Given the description of an element on the screen output the (x, y) to click on. 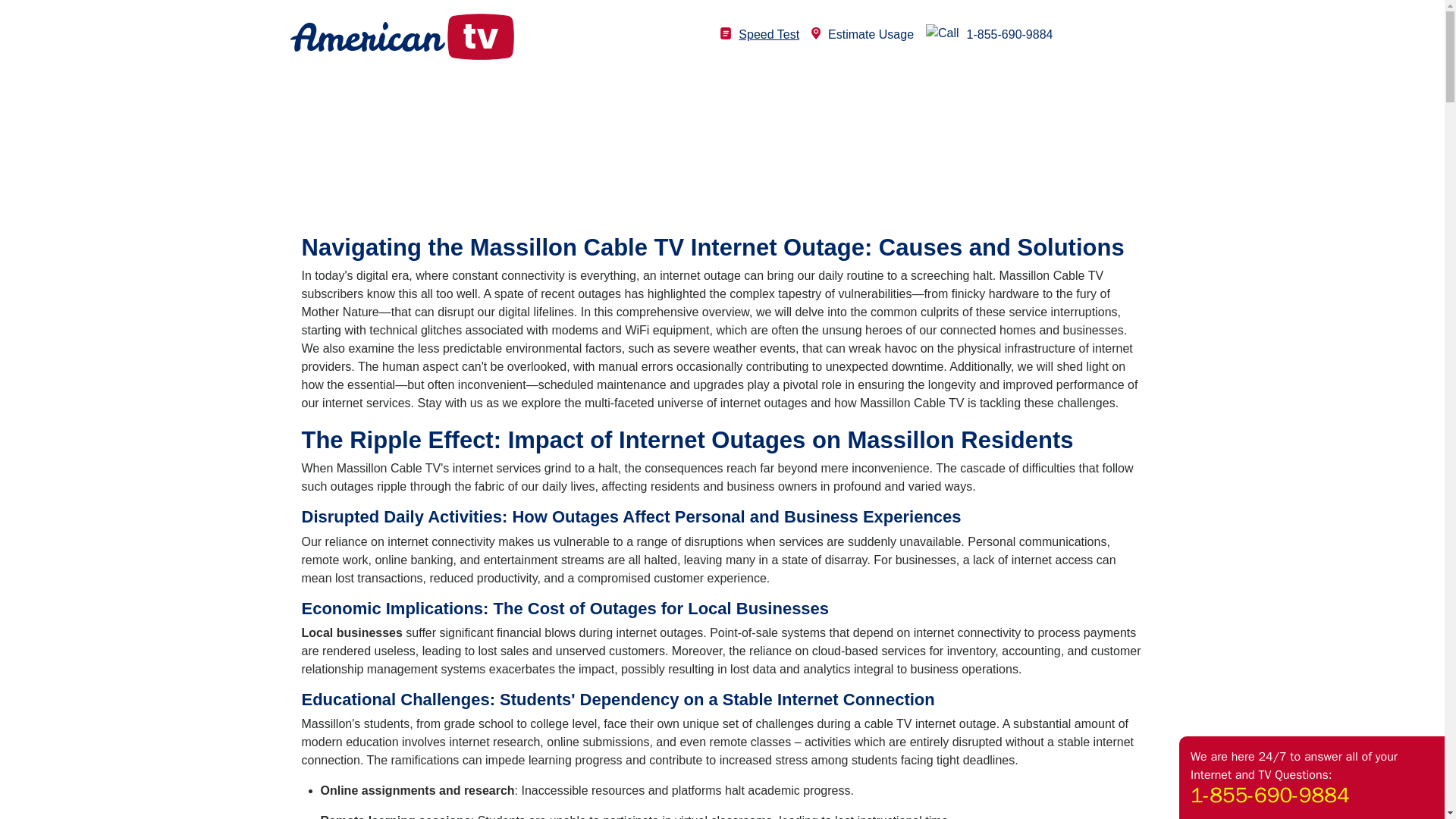
1-855-690-9884 (989, 34)
Speed Test (759, 34)
Estimate Usage (862, 34)
